Given the description of an element on the screen output the (x, y) to click on. 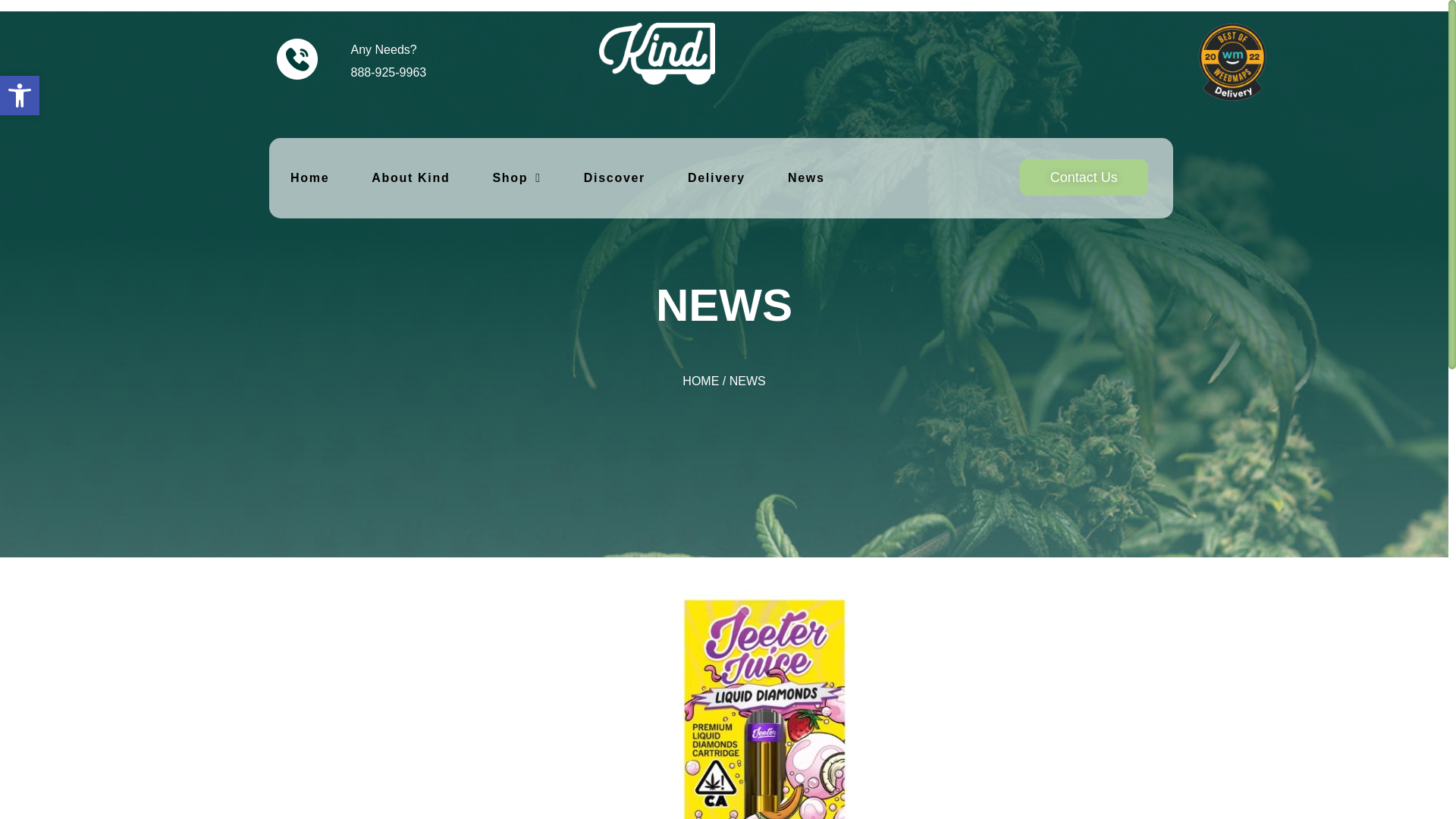
Discover (627, 179)
Accessibility Tools (19, 95)
Home (19, 95)
Delivery (276, 176)
Contact Us (721, 179)
Accessibility Tools (1090, 176)
About Kind (19, 95)
Shop (396, 176)
News (516, 177)
